Given the description of an element on the screen output the (x, y) to click on. 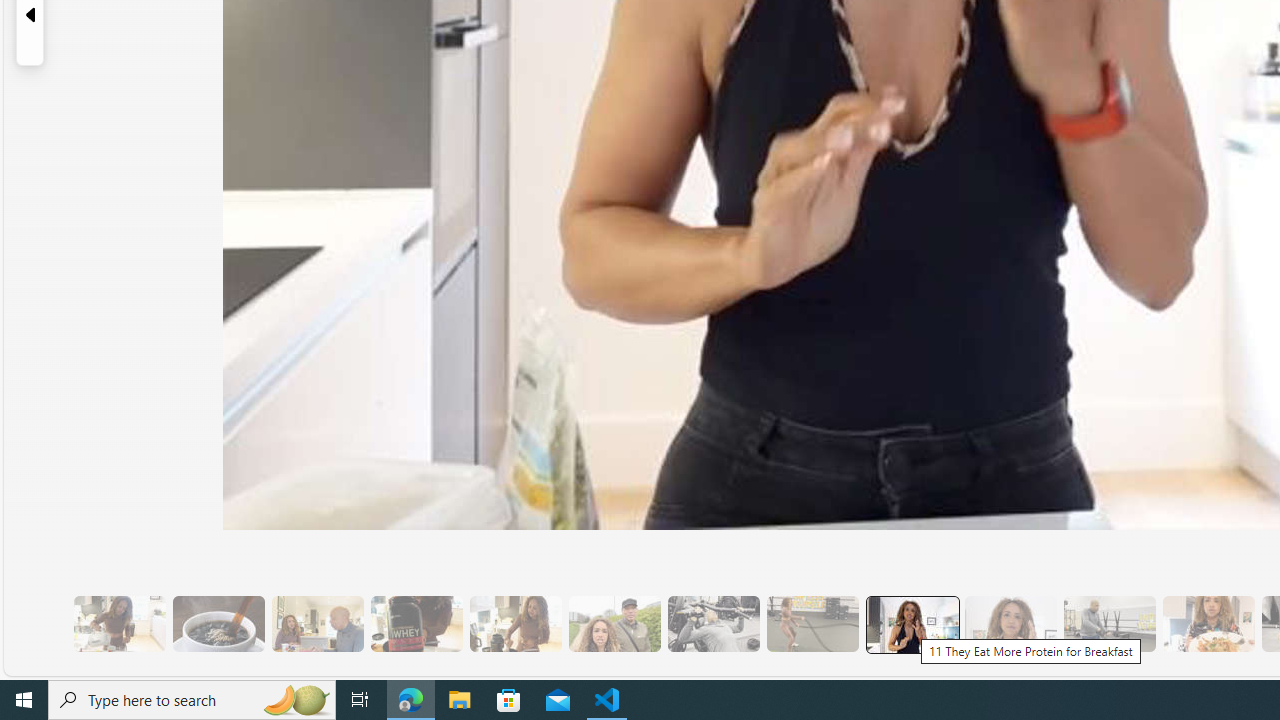
8 Be Mindful of Coffee (217, 624)
7 They Don't Skip Meals (514, 624)
13 Her Husband Does Group Cardio Classs (1108, 624)
9 They Do Bench Exercises (713, 624)
3 They Drink Lemon Tea (119, 624)
14 They Have Salmon and Veggies for Dinner (1208, 624)
10 Then, They Do HIIT Cardio (811, 624)
11 They Eat More Protein for Breakfast (912, 624)
6 Since Eating More Protein Her Training Has Improved (416, 624)
